Given the description of an element on the screen output the (x, y) to click on. 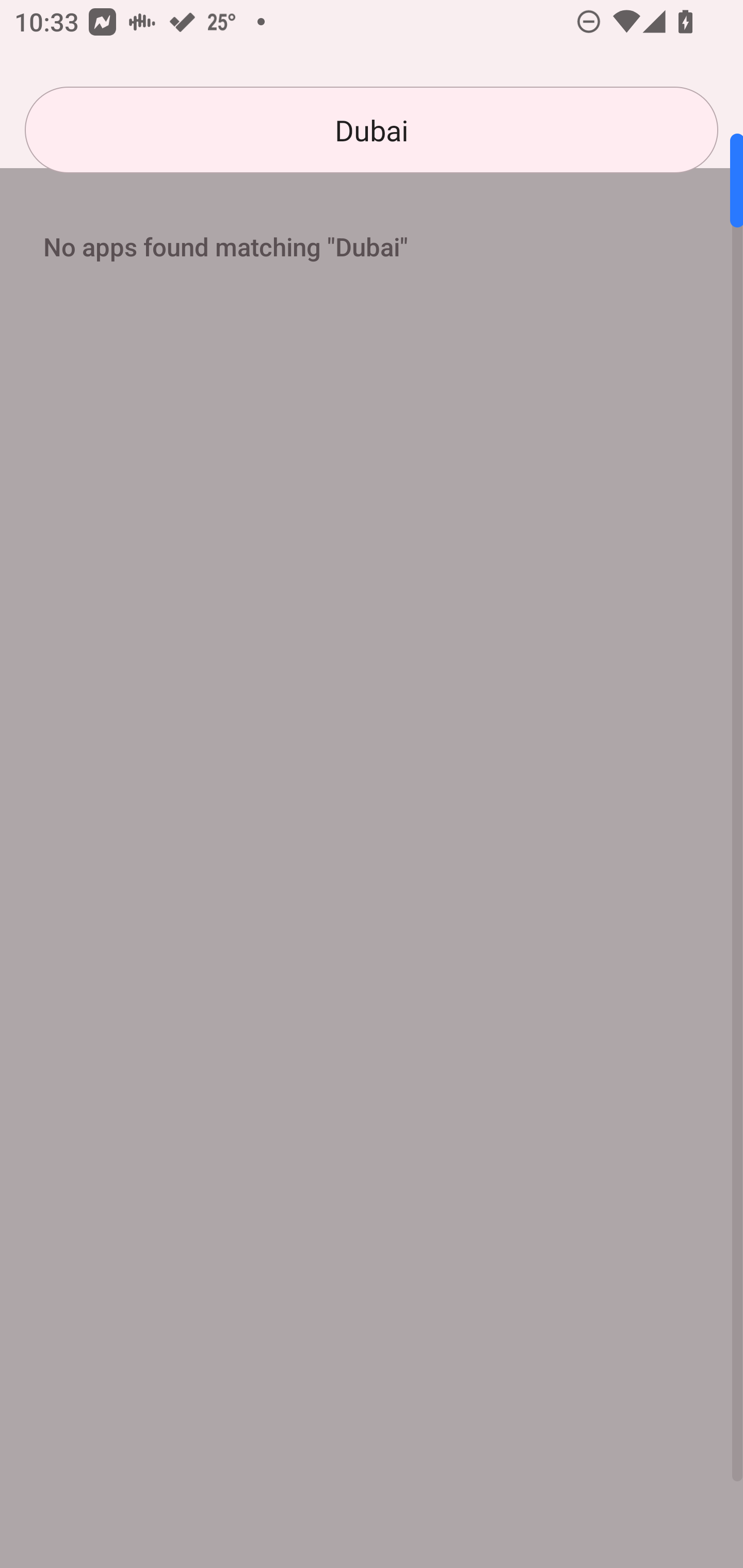
Dubai (371, 130)
